Given the description of an element on the screen output the (x, y) to click on. 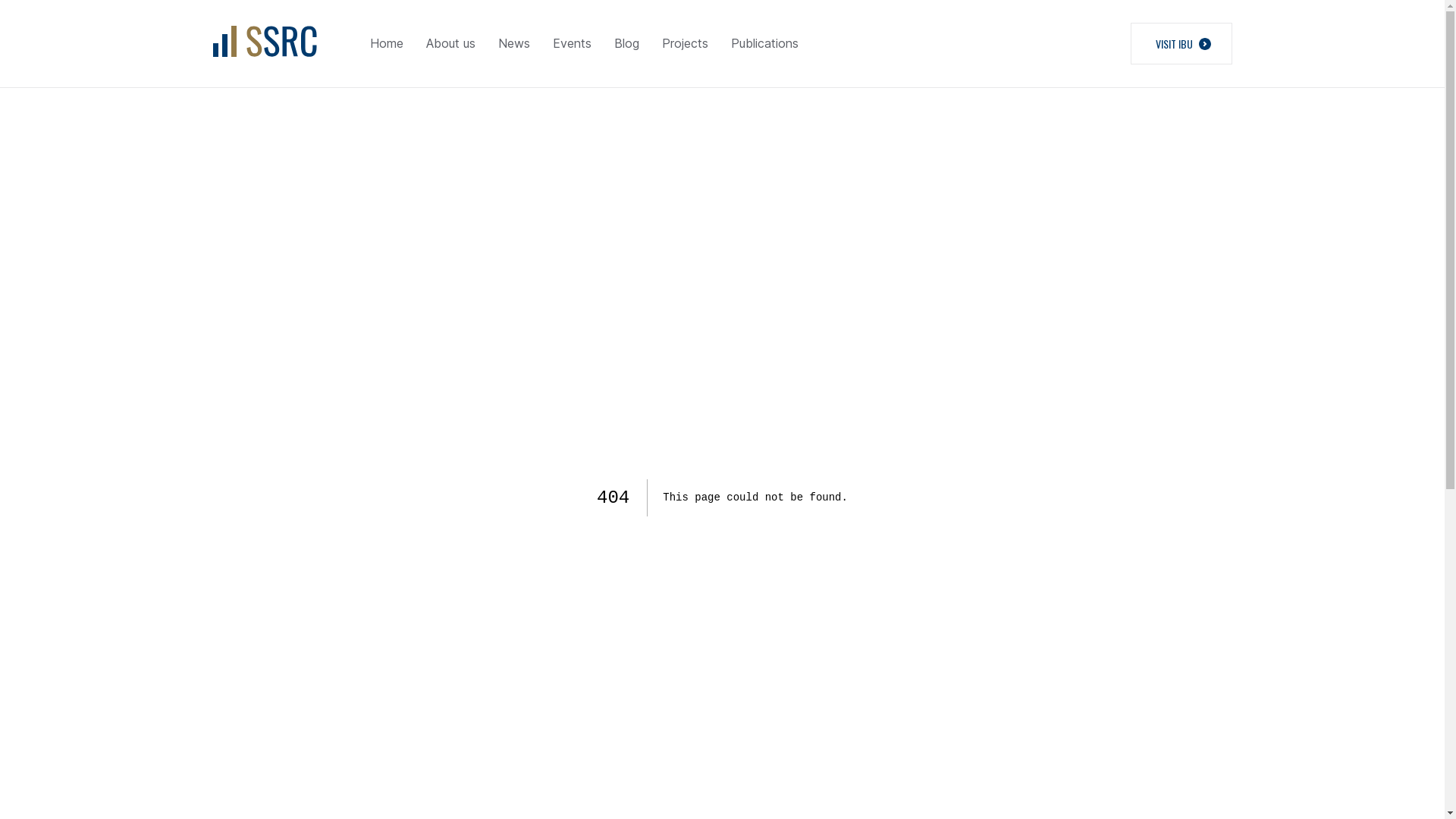
News Element type: text (513, 43)
Projects Element type: text (684, 43)
Publications Element type: text (764, 43)
VISIT IBU Element type: text (1180, 43)
Home Element type: text (386, 43)
Events Element type: text (571, 43)
Blog Element type: text (626, 43)
About us Element type: text (450, 43)
